Given the description of an element on the screen output the (x, y) to click on. 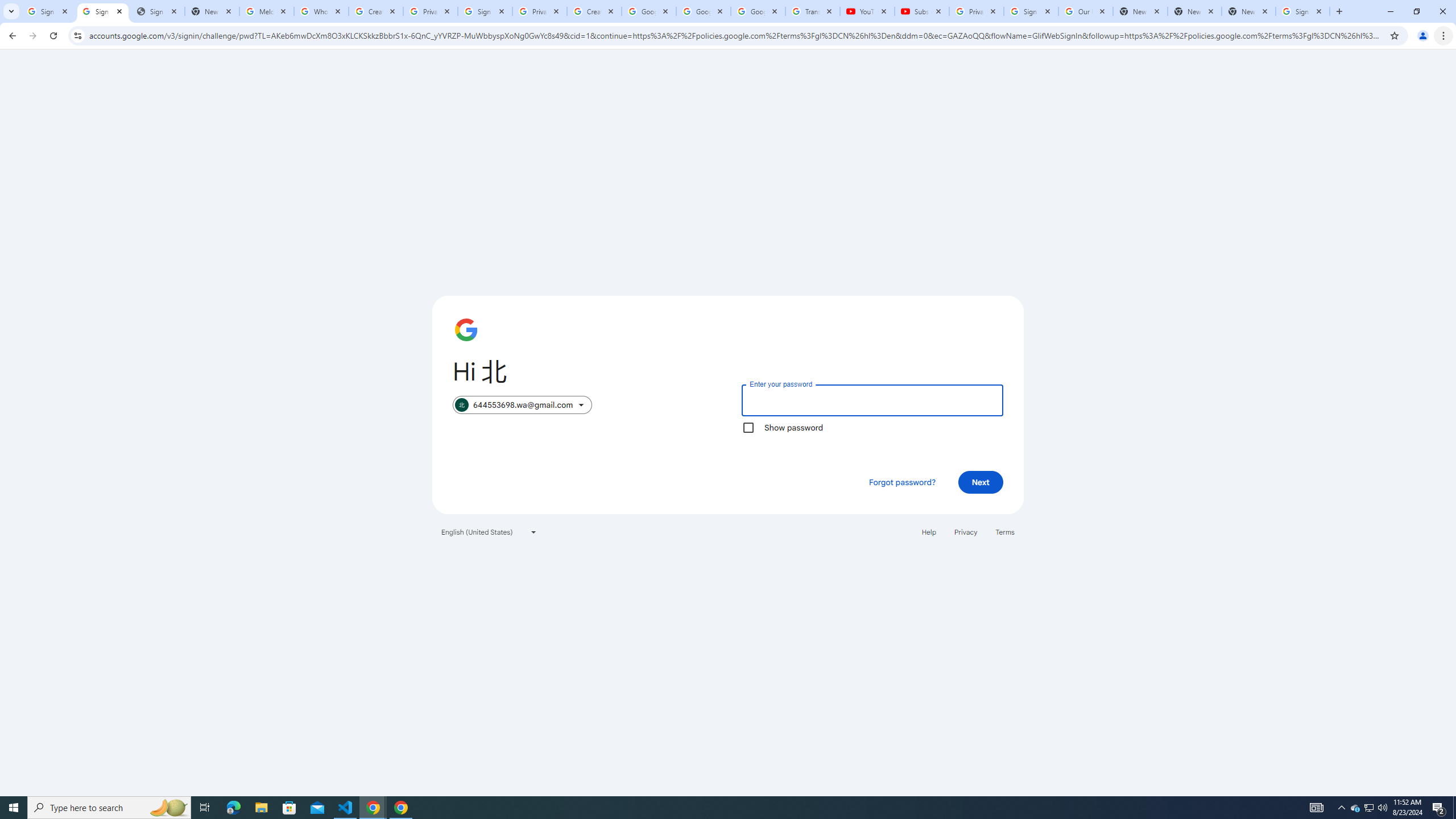
Google Account (757, 11)
Sign in - Google Accounts (484, 11)
Show password (748, 427)
Forgot password? (901, 481)
Sign in - Google Accounts (1030, 11)
